Given the description of an element on the screen output the (x, y) to click on. 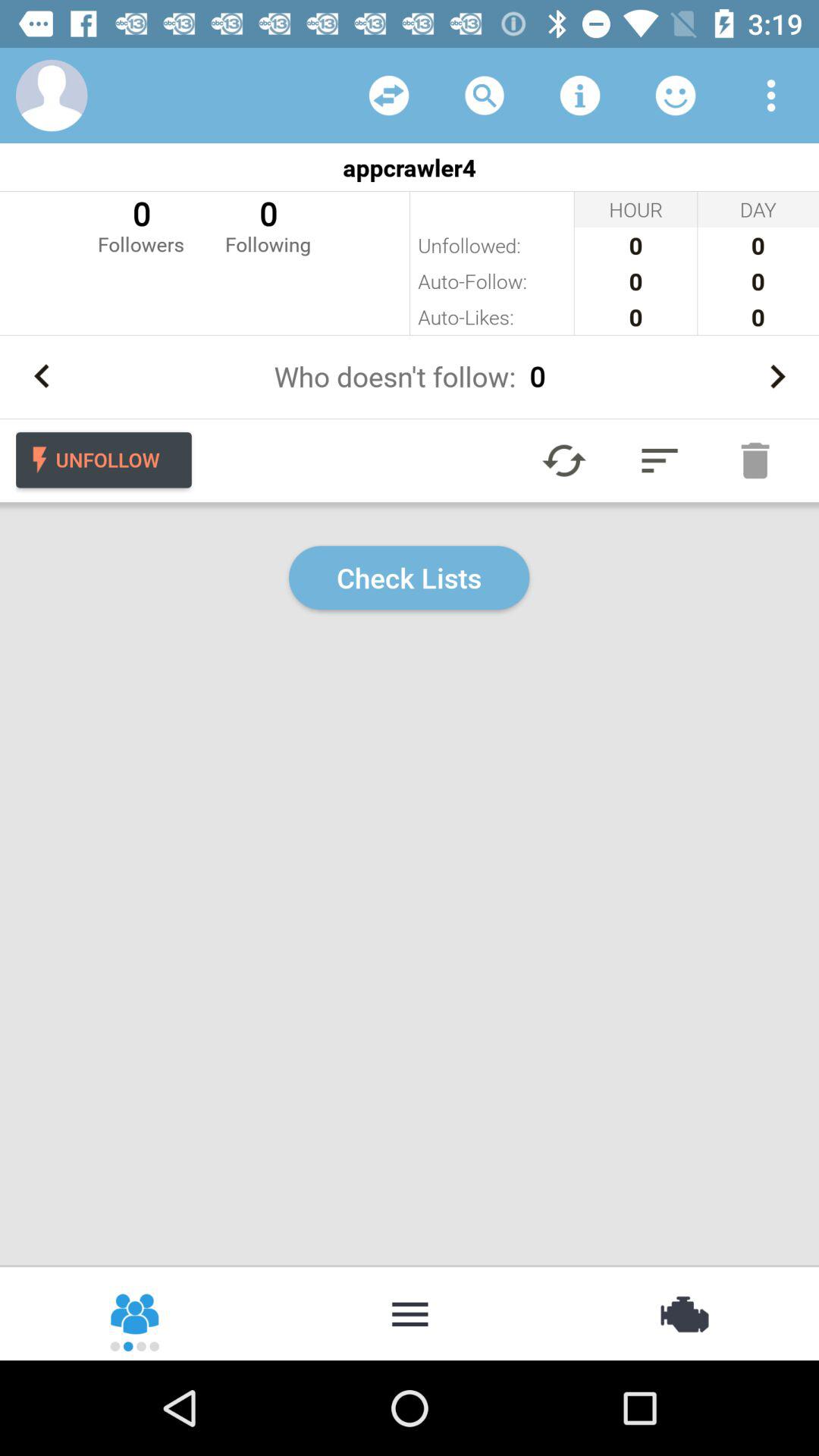
to search (484, 95)
